Given the description of an element on the screen output the (x, y) to click on. 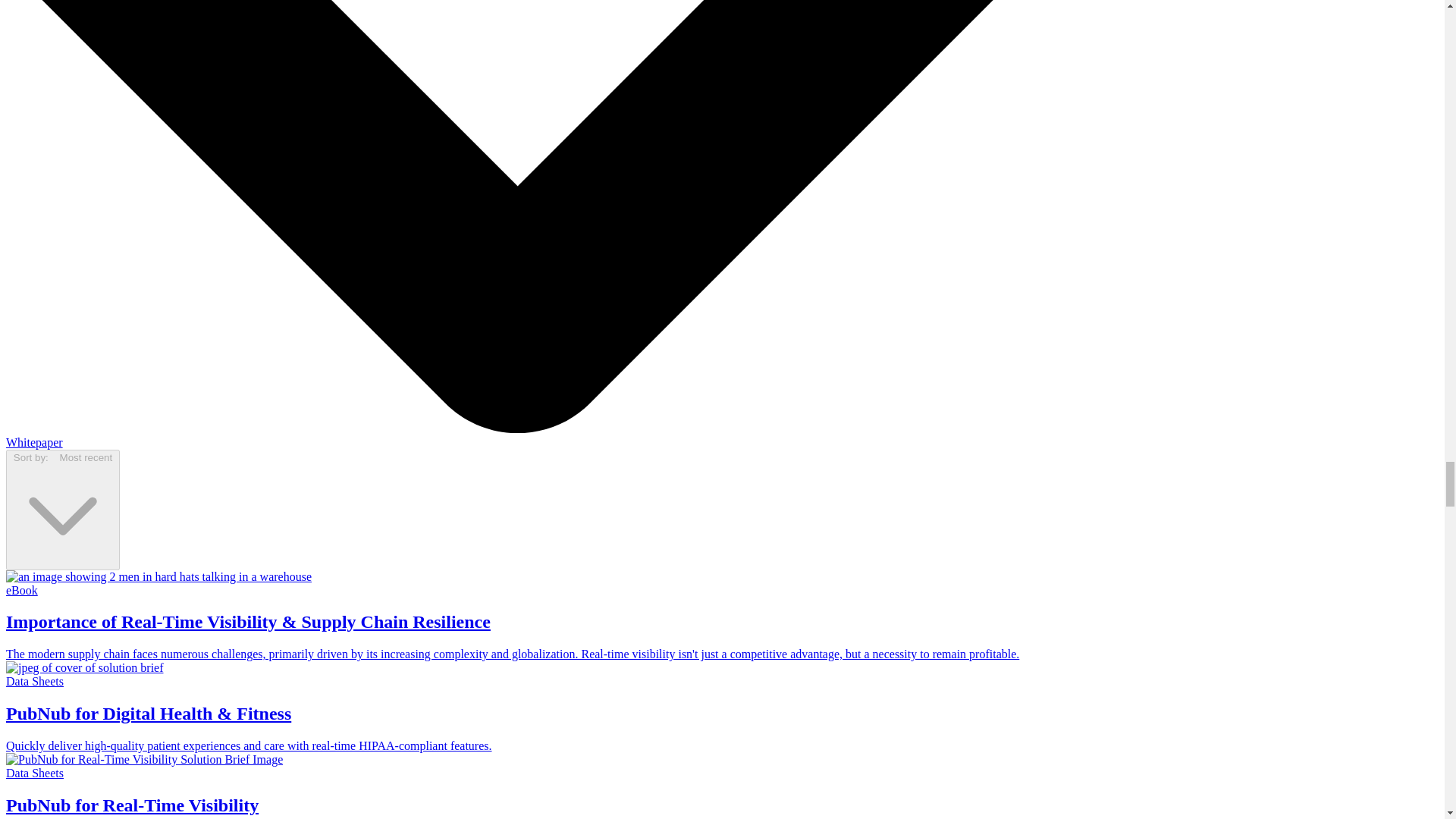
PubNub for Real-Time Visibility Solution Brief Image (143, 759)
